Given the description of an element on the screen output the (x, y) to click on. 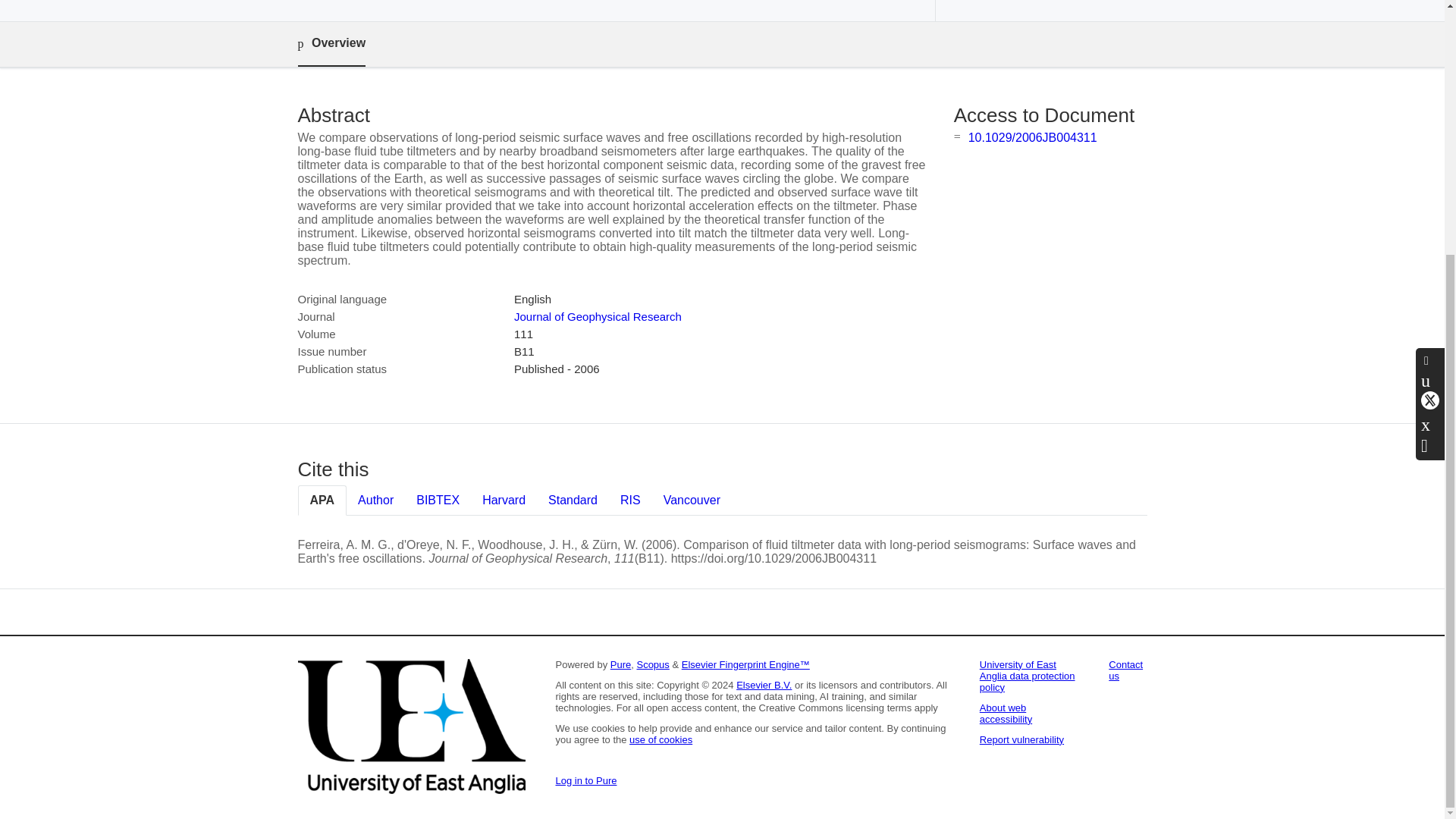
Pure (620, 664)
About web accessibility (1005, 712)
Log in to Pure (584, 780)
Contact us (1125, 670)
University of East Anglia data protection policy (1027, 675)
Journal of Geophysical Research (597, 316)
Scopus (652, 664)
use of cookies (660, 739)
Report vulnerability (1021, 739)
Overview (331, 44)
